Given the description of an element on the screen output the (x, y) to click on. 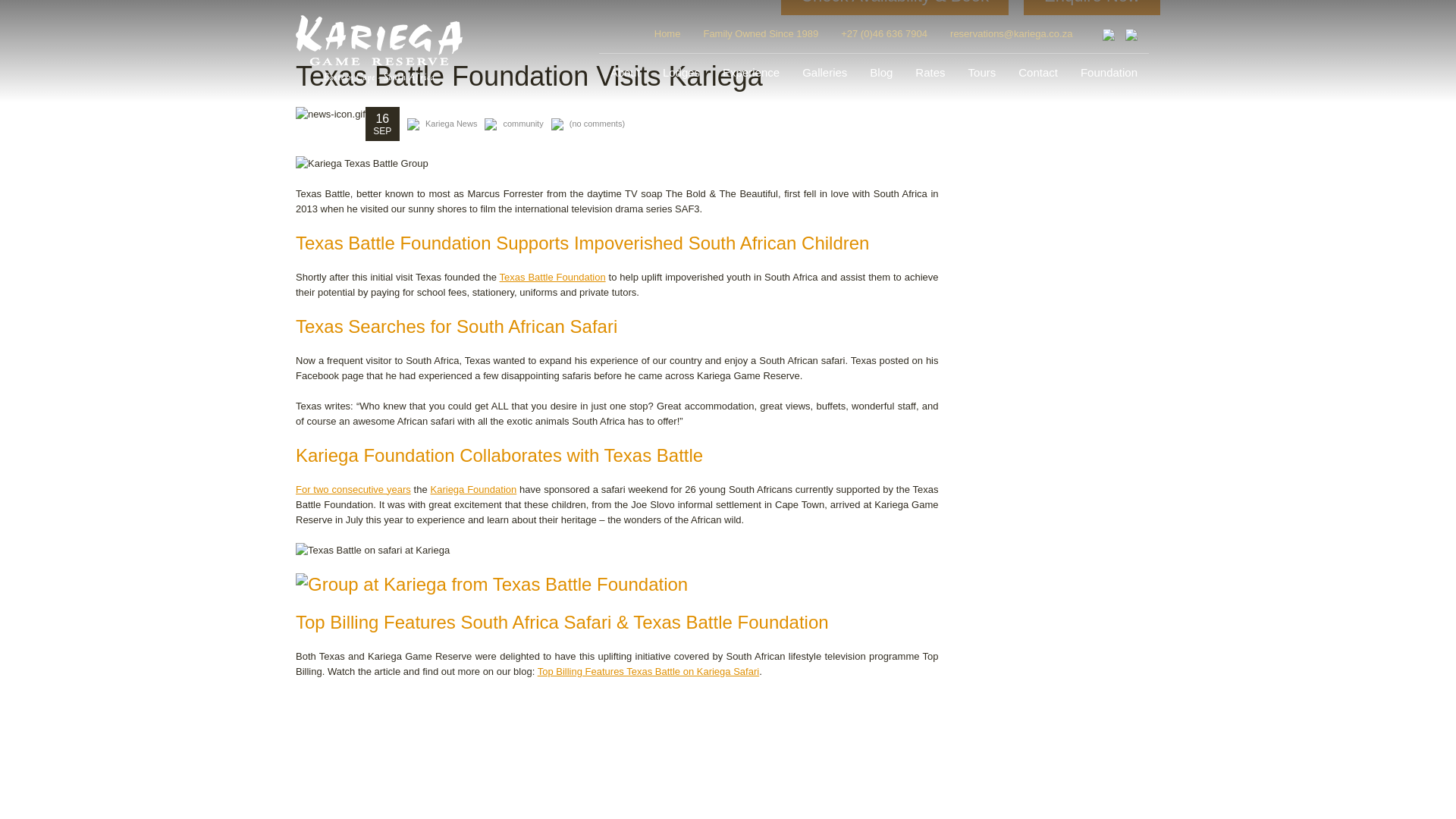
Kariega Foundation (473, 489)
Group at Kariega from Texas Battle Foundation (617, 584)
About (624, 72)
news-icon.gif (330, 114)
Blog (881, 72)
Galleries (824, 72)
Experience (750, 72)
Home (667, 33)
Lodges (680, 72)
Texas Battle on safari at Kariega (617, 549)
